Given the description of an element on the screen output the (x, y) to click on. 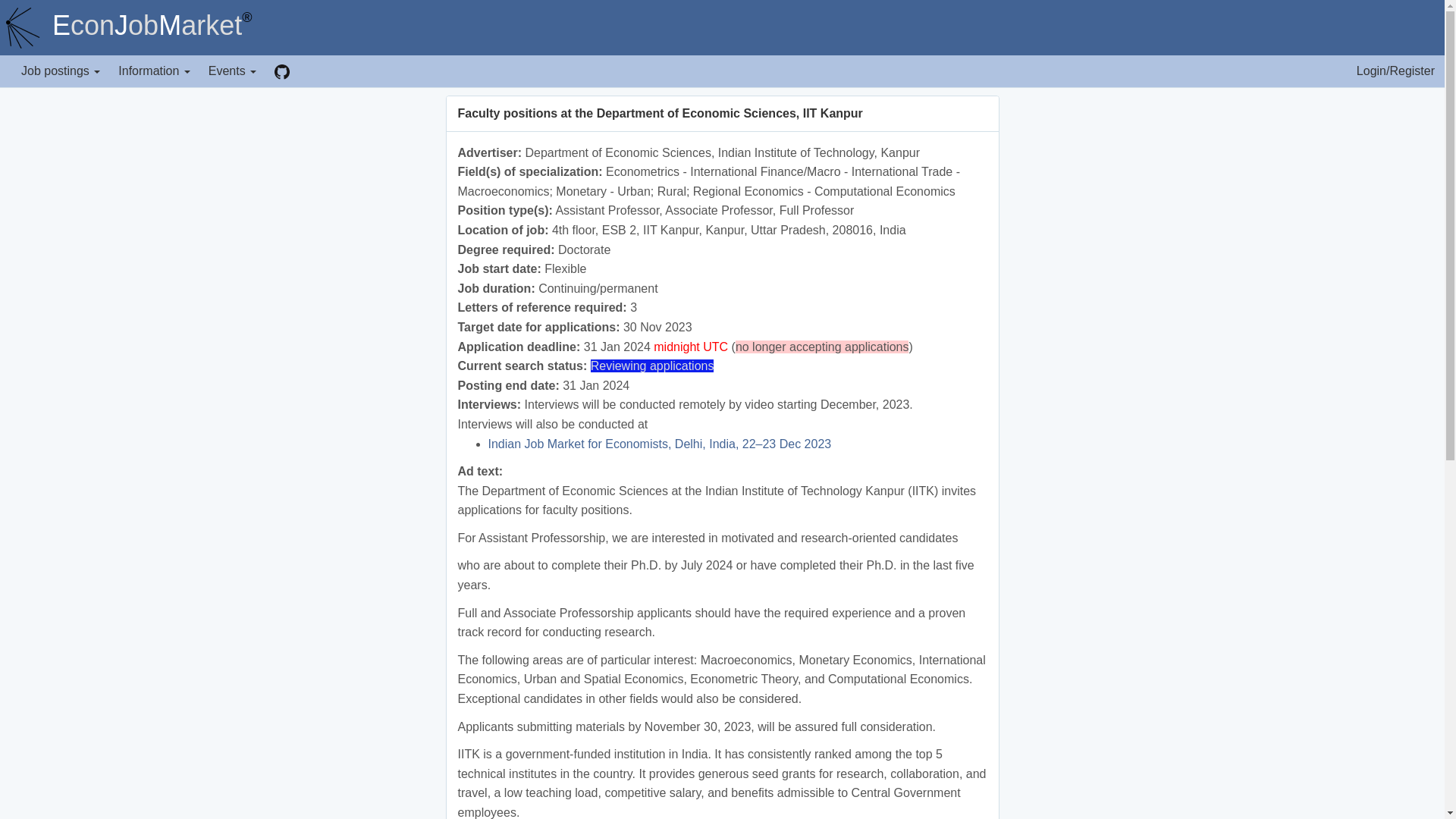
UTC (715, 346)
Job postings (60, 70)
Events (231, 70)
Information (153, 70)
